Given the description of an element on the screen output the (x, y) to click on. 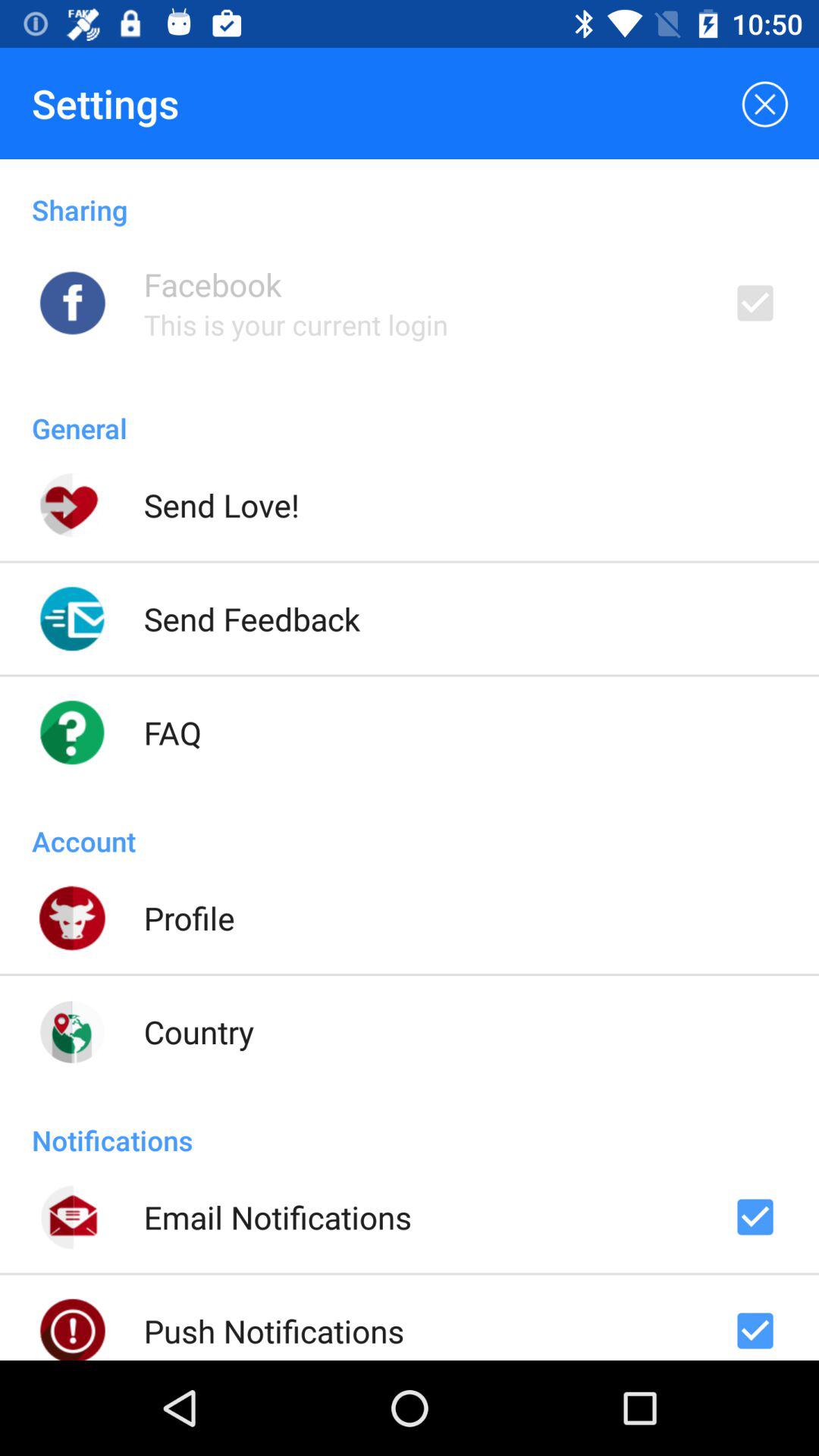
select item below the account (188, 917)
